Given the description of an element on the screen output the (x, y) to click on. 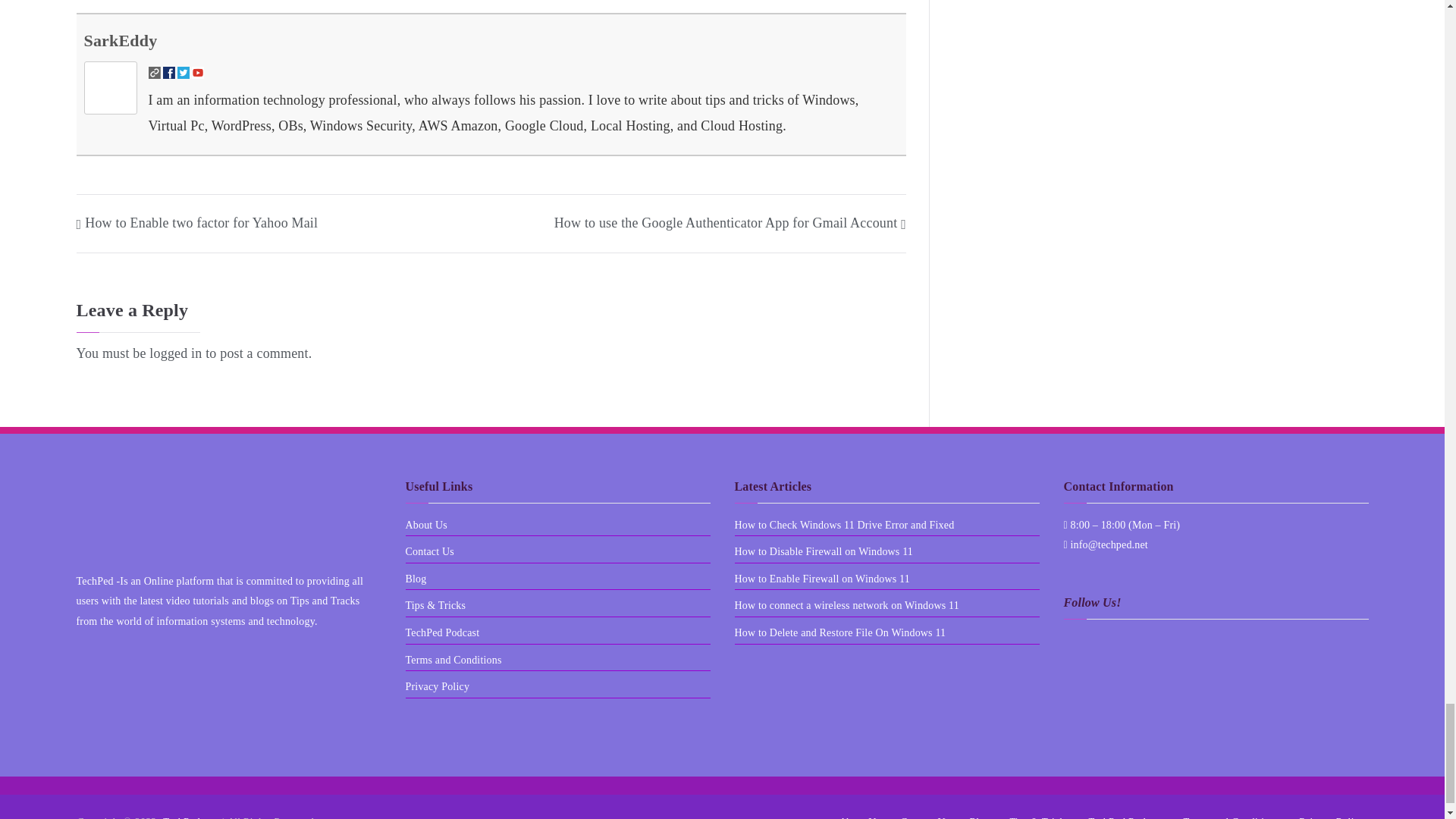
All posts by SarkEddy (119, 40)
